Given the description of an element on the screen output the (x, y) to click on. 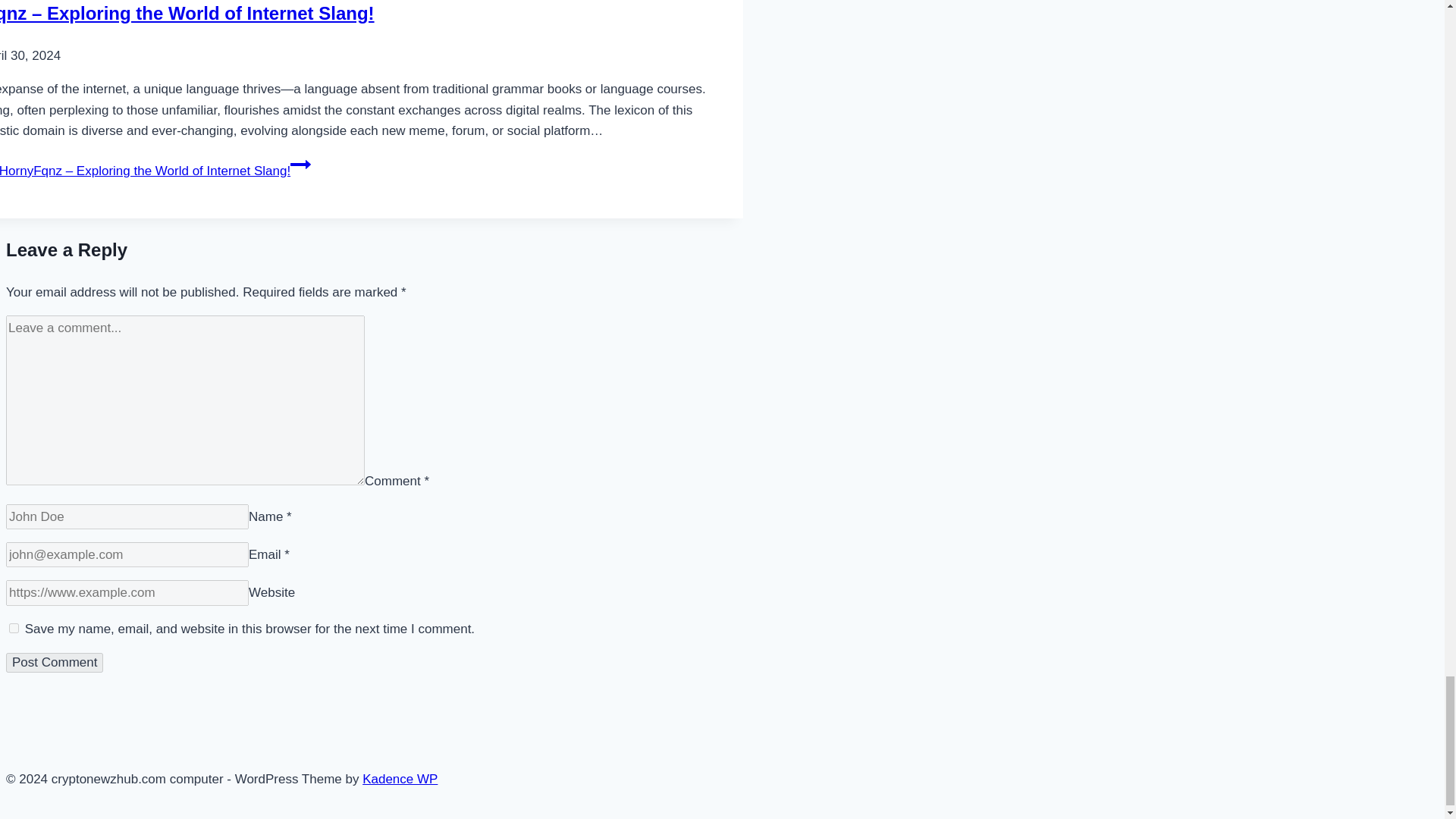
yes (13, 628)
Continue (300, 164)
Post Comment (54, 662)
